Given the description of an element on the screen output the (x, y) to click on. 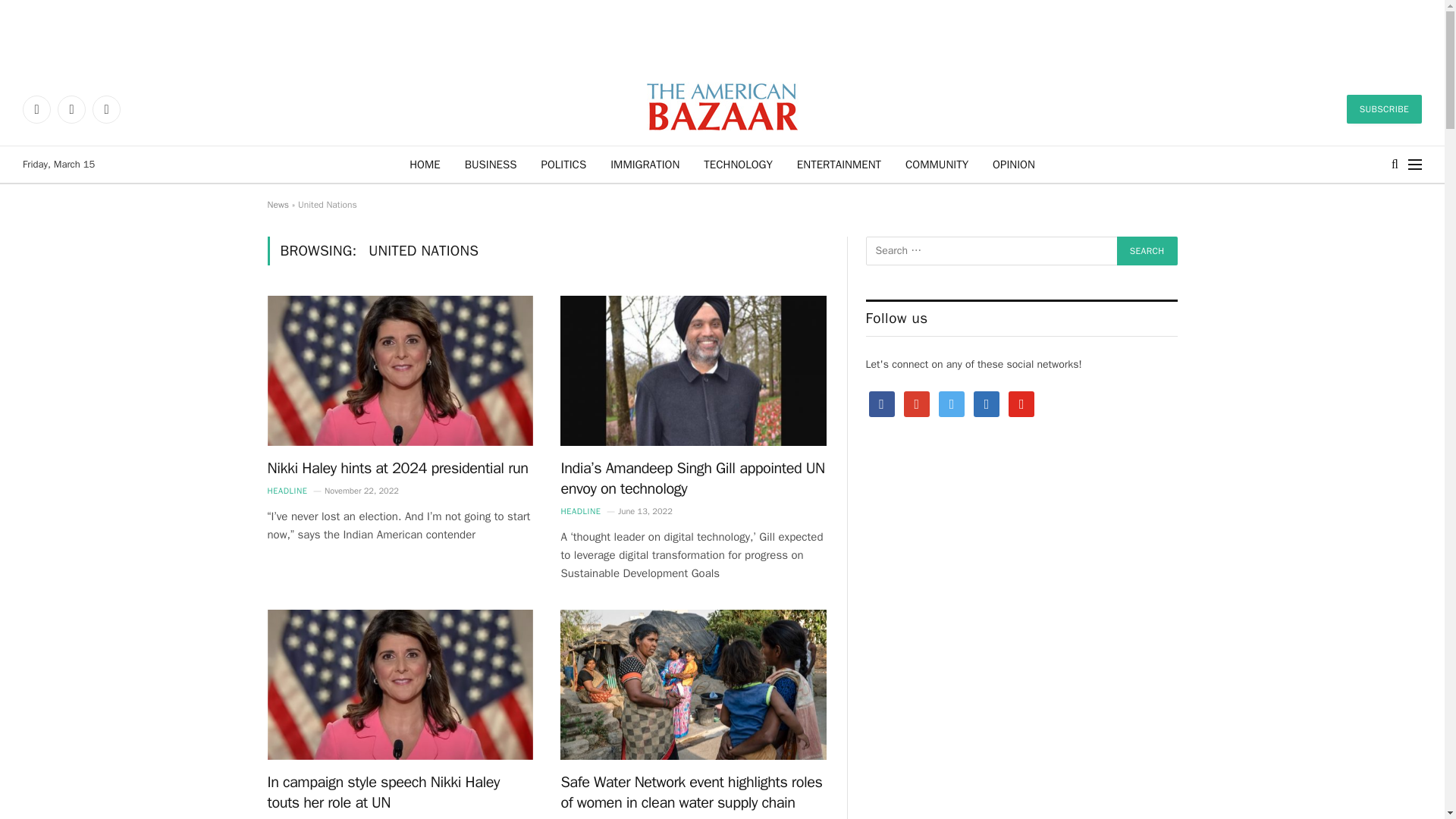
Search (1146, 250)
ENTERTAINMENT (838, 164)
Nikki Haley hints at 2024 presidential run (399, 370)
Nikki Haley hints at 2024 presidential run (399, 467)
TECHNOLOGY (737, 164)
Twitter (71, 109)
News (277, 204)
Facebook (36, 109)
IMMIGRATION (644, 164)
